Given the description of an element on the screen output the (x, y) to click on. 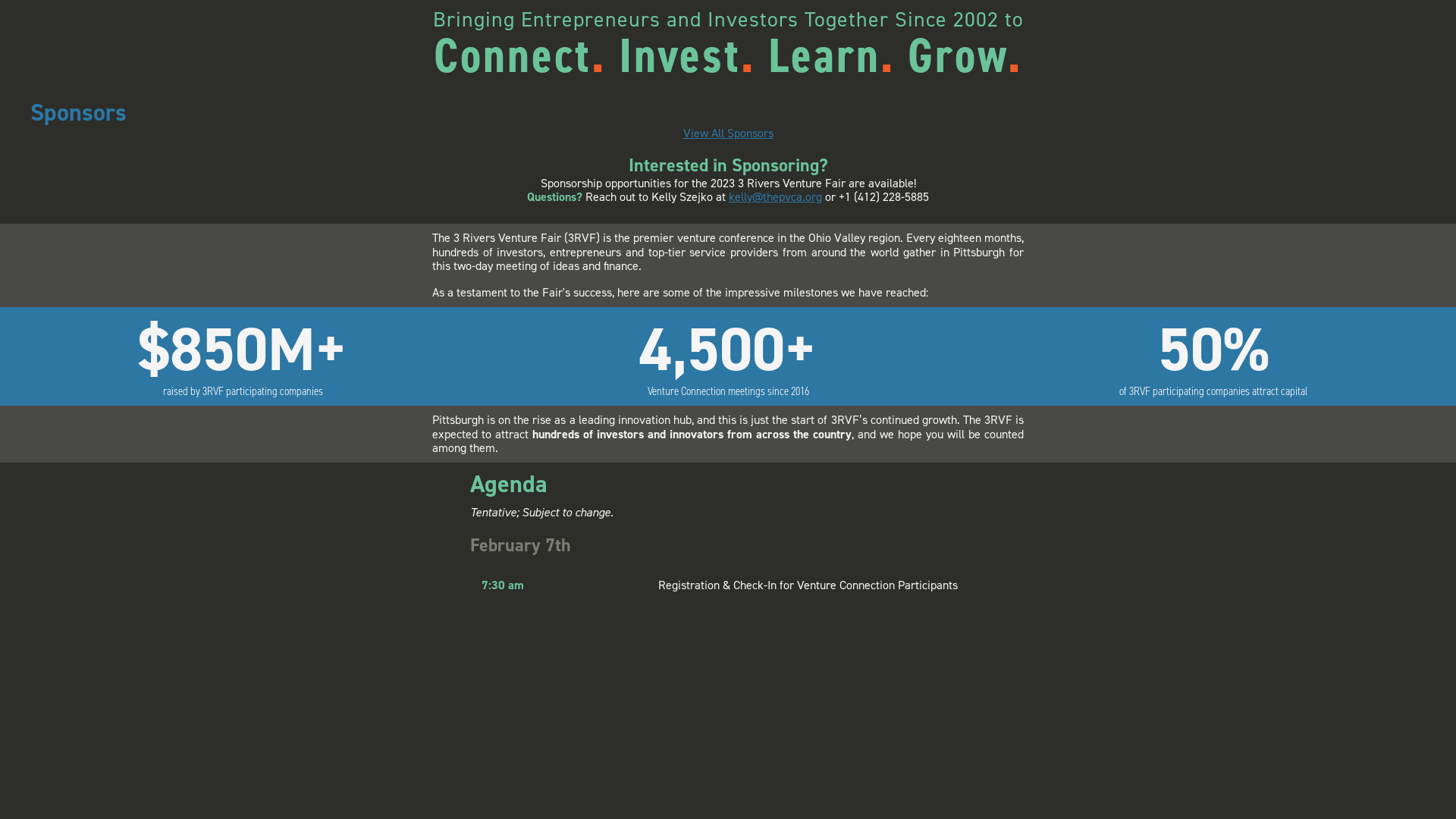
View All Sponsors Element type: text (727, 133)
kelly@thepvca.org Element type: text (775, 196)
